Given the description of an element on the screen output the (x, y) to click on. 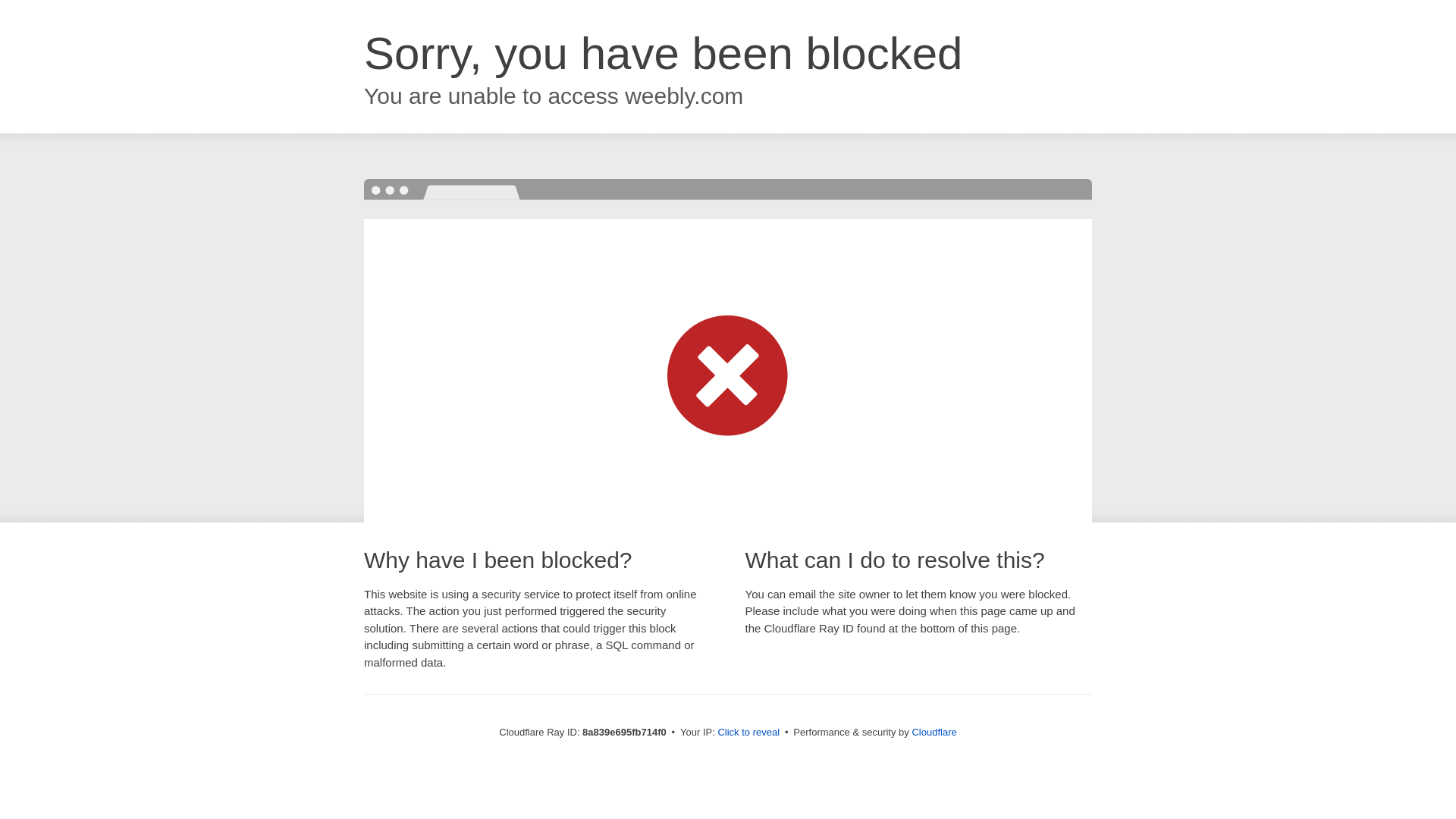
Click to reveal (747, 732)
Cloudflare (933, 731)
